Given the description of an element on the screen output the (x, y) to click on. 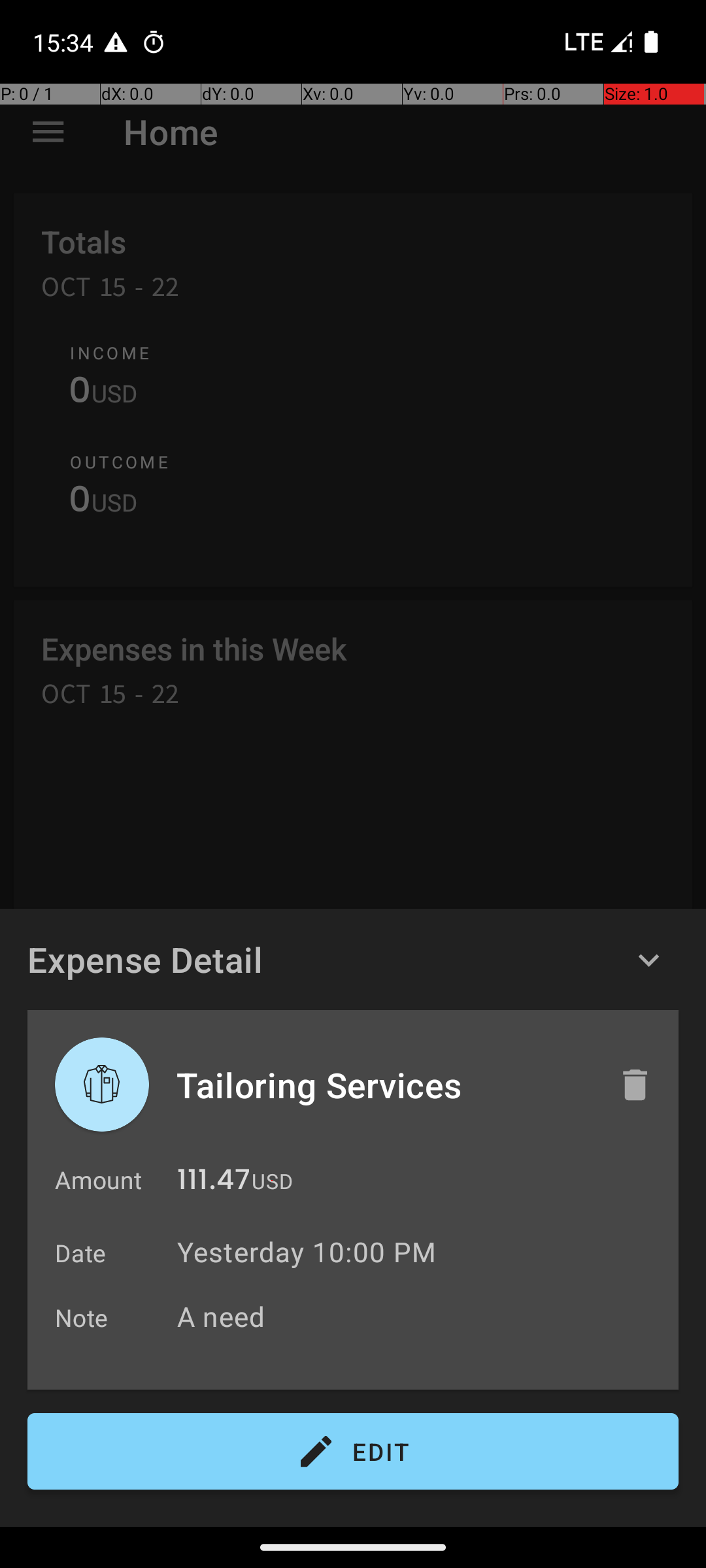
Tailoring Services Element type: android.widget.TextView (383, 1084)
111.47 Element type: android.widget.TextView (213, 1182)
Yesterday 10:00 PM Element type: android.widget.TextView (306, 1251)
